Given the description of an element on the screen output the (x, y) to click on. 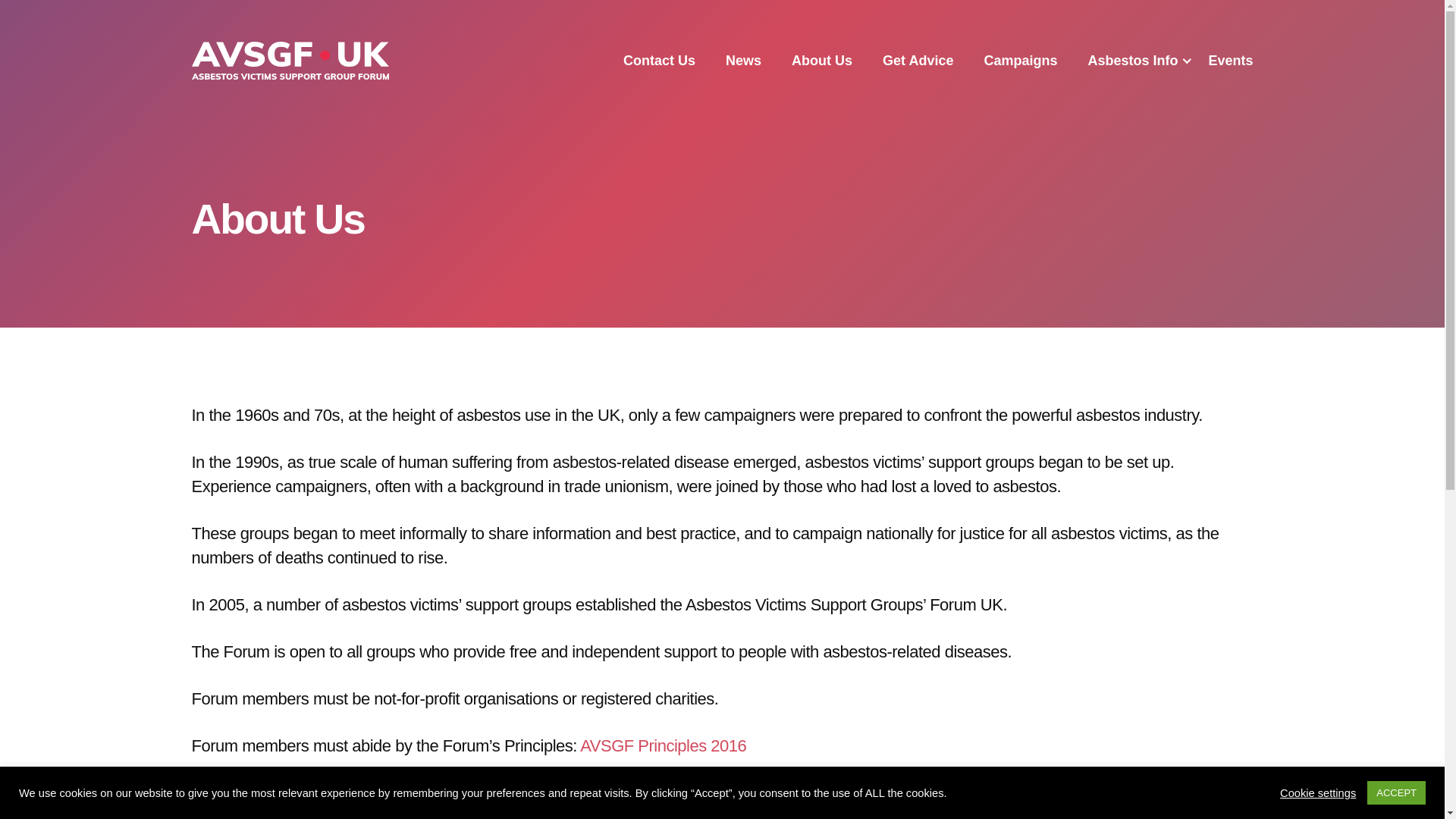
Events (1230, 60)
Get Advice (917, 60)
Asbestos Info (1132, 60)
Contact Us (659, 60)
News (743, 60)
About Us (821, 60)
Cookie settings (1317, 792)
AVSGF Principles 2016 (662, 745)
ACCEPT (1396, 792)
Campaigns (1020, 60)
